Given the description of an element on the screen output the (x, y) to click on. 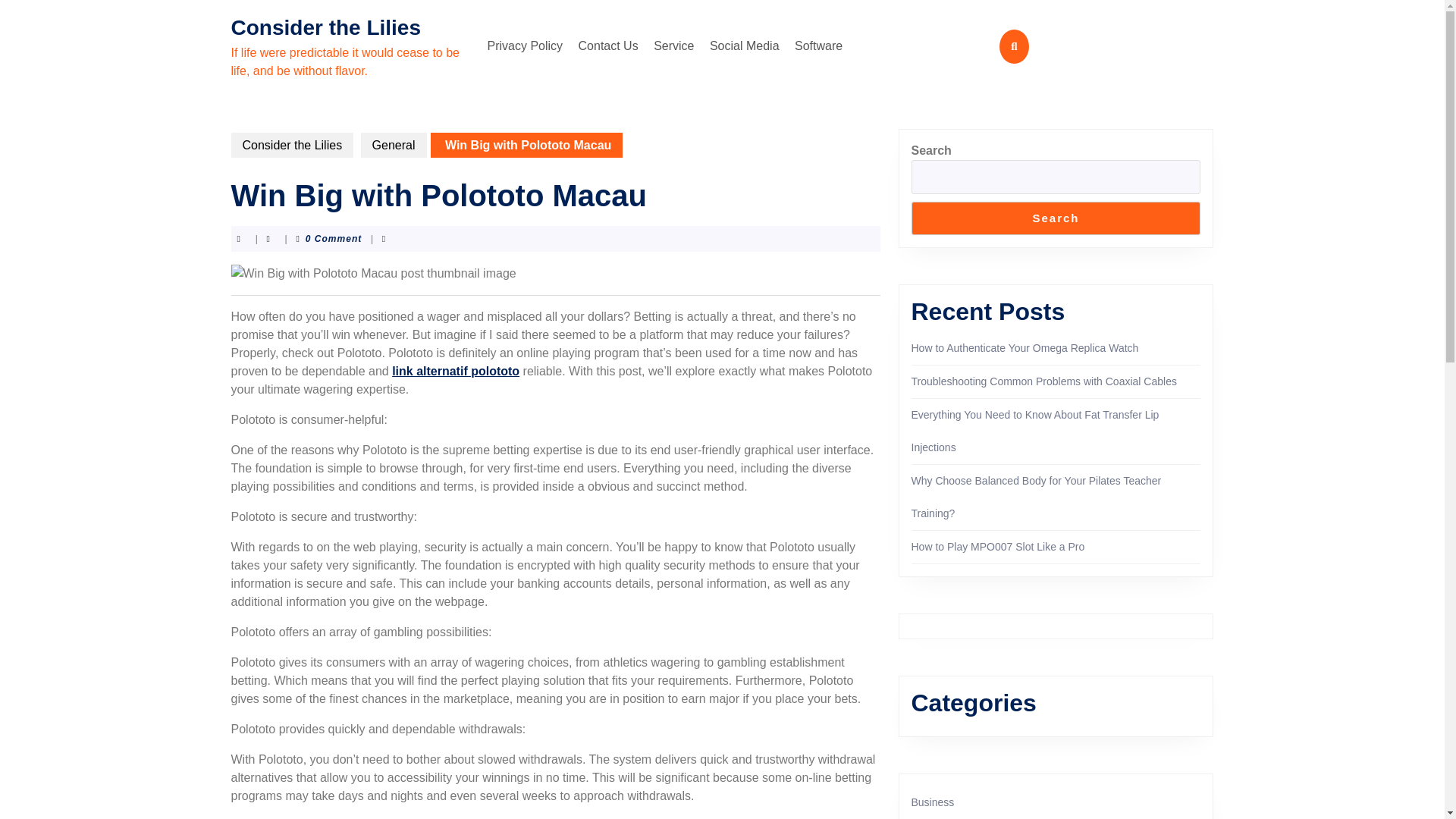
How to Play MPO007 Slot Like a Pro (997, 546)
link alternatif polototo (455, 370)
Search (1056, 218)
Privacy Policy (524, 46)
How to Authenticate Your Omega Replica Watch (1024, 347)
Troubleshooting Common Problems with Coaxial Cables (1043, 381)
Why Choose Balanced Body for Your Pilates Teacher Training? (1036, 497)
General (393, 145)
Consider the Lilies (325, 27)
Social Media (744, 46)
